Given the description of an element on the screen output the (x, y) to click on. 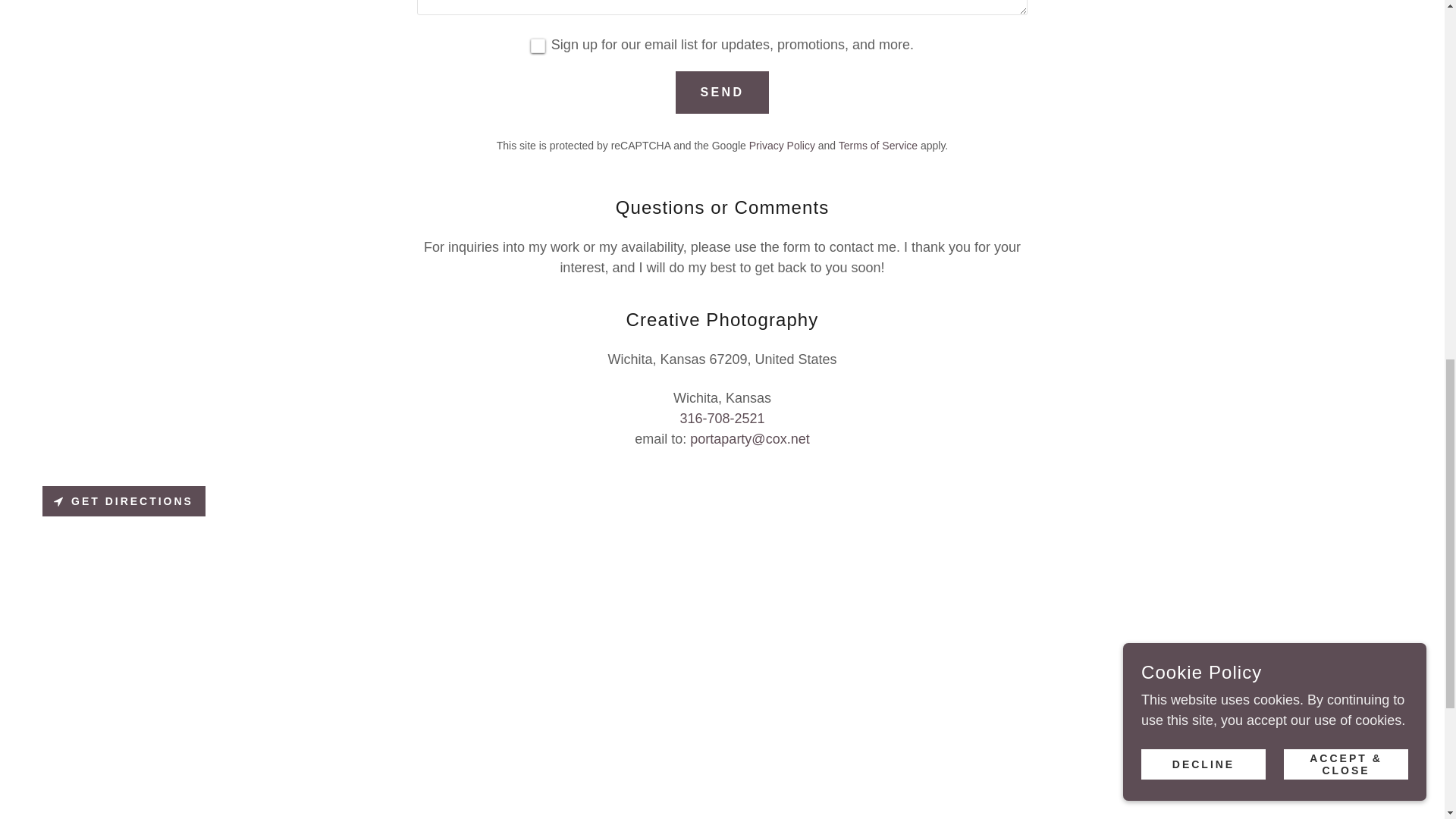
GET DIRECTIONS (123, 501)
SEND (721, 92)
Terms of Service (877, 145)
Privacy Policy (782, 145)
316-708-2521 (721, 418)
